Given the description of an element on the screen output the (x, y) to click on. 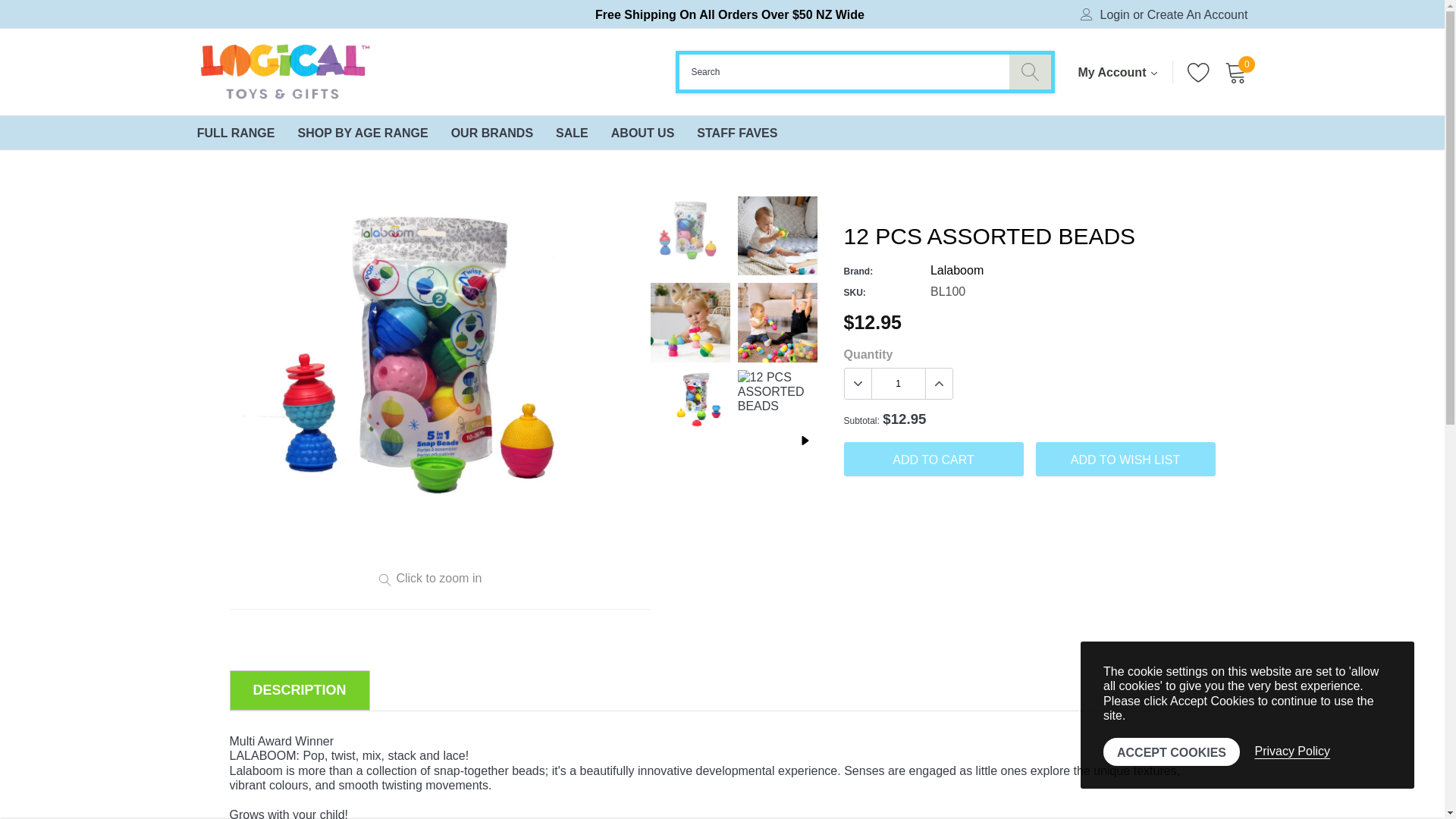
1 (898, 383)
Login (1114, 15)
search (1030, 71)
Lalaboom (957, 269)
Create An Account (1197, 15)
